Given the description of an element on the screen output the (x, y) to click on. 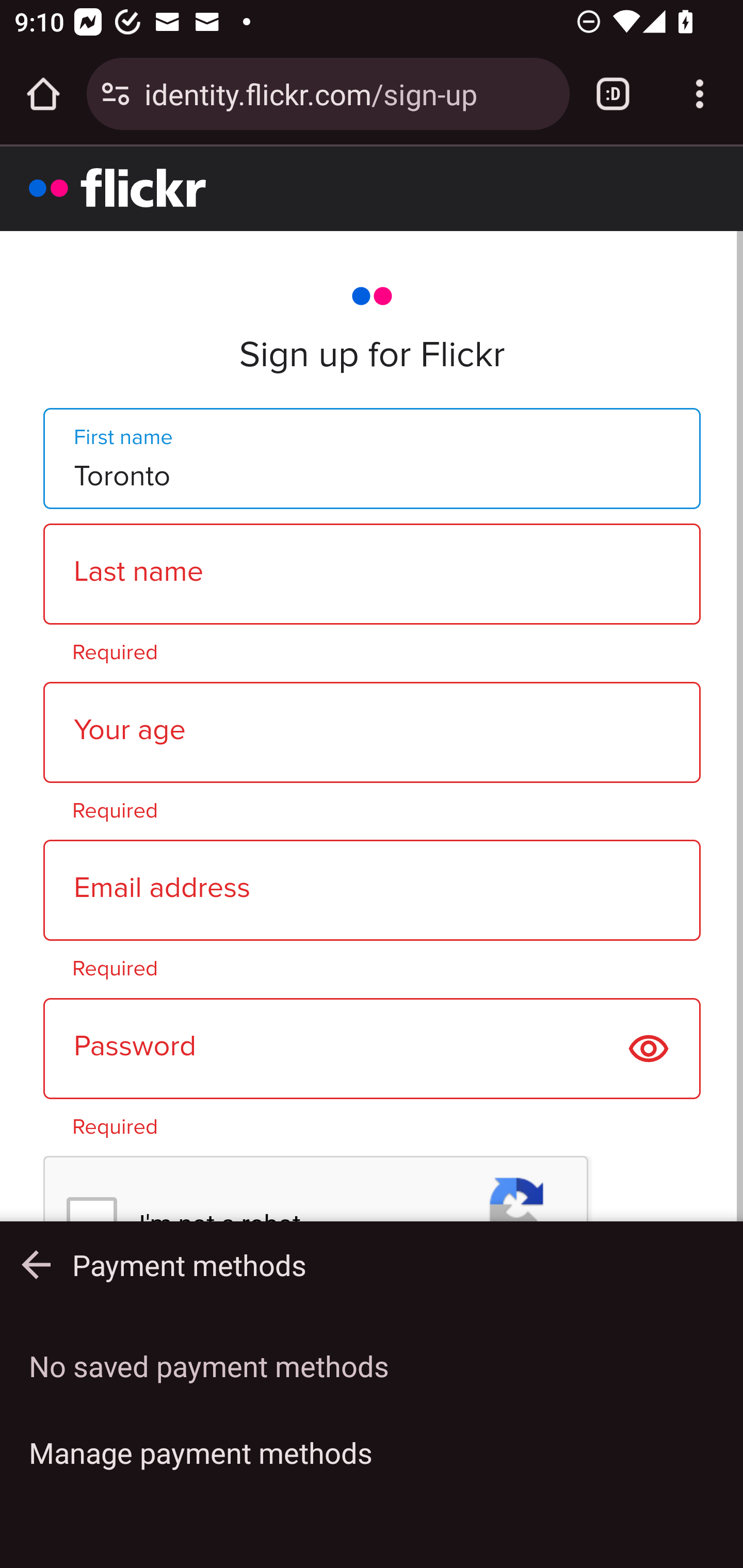
Open the home page (43, 93)
Connection is secure (115, 93)
Switch or close tabs (612, 93)
Customize and control Google Chrome (699, 93)
identity.flickr.com/sign-up (349, 92)
Flickr Logo (117, 186)
Toronto (371, 456)
Show keyboard Payment methods (371, 1264)
Show keyboard (36, 1264)
Manage payment methods (371, 1452)
